Given the description of an element on the screen output the (x, y) to click on. 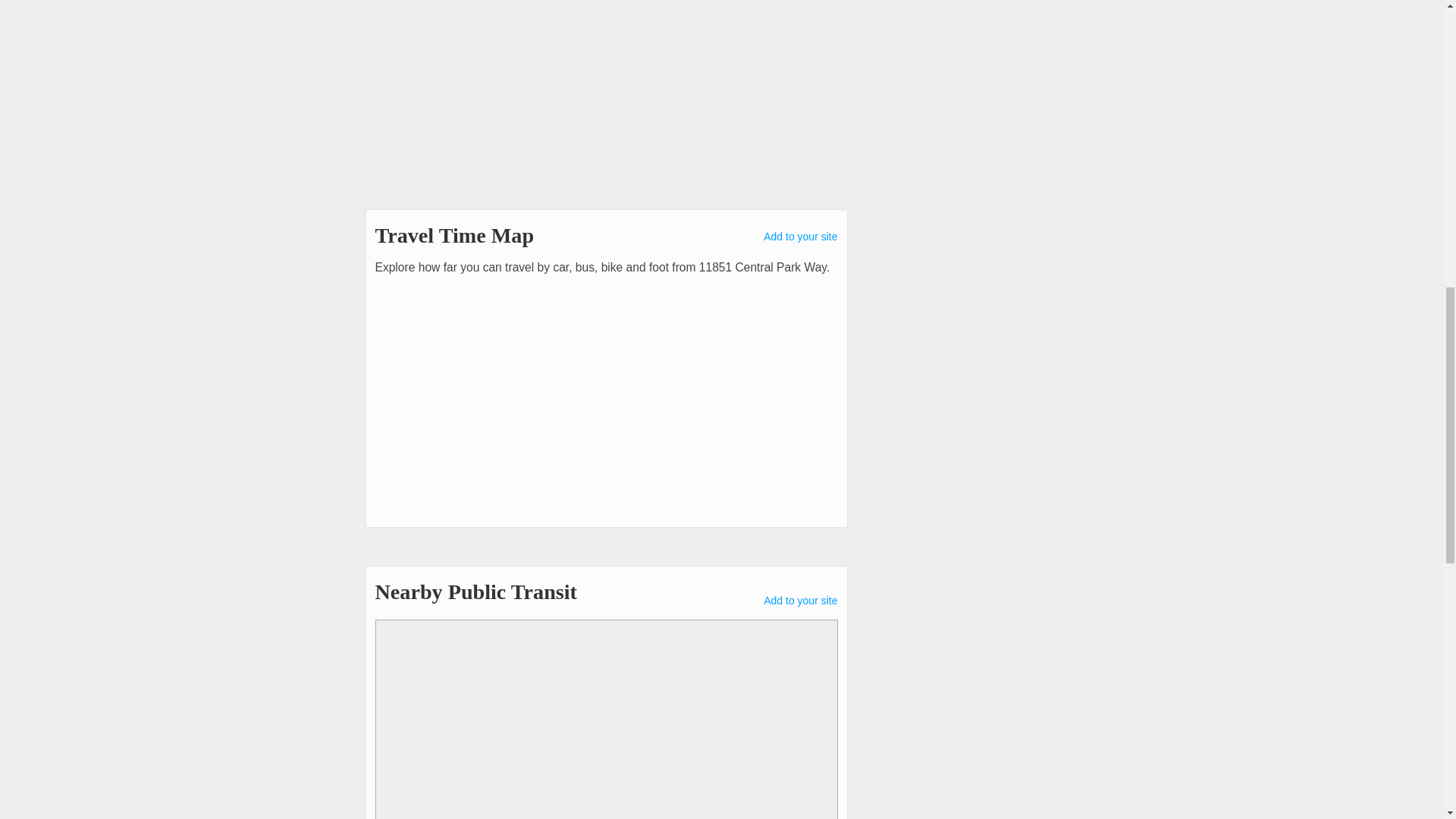
3rd party ad content (478, 99)
Add to your site (799, 236)
Add to your site (799, 600)
